Given the description of an element on the screen output the (x, y) to click on. 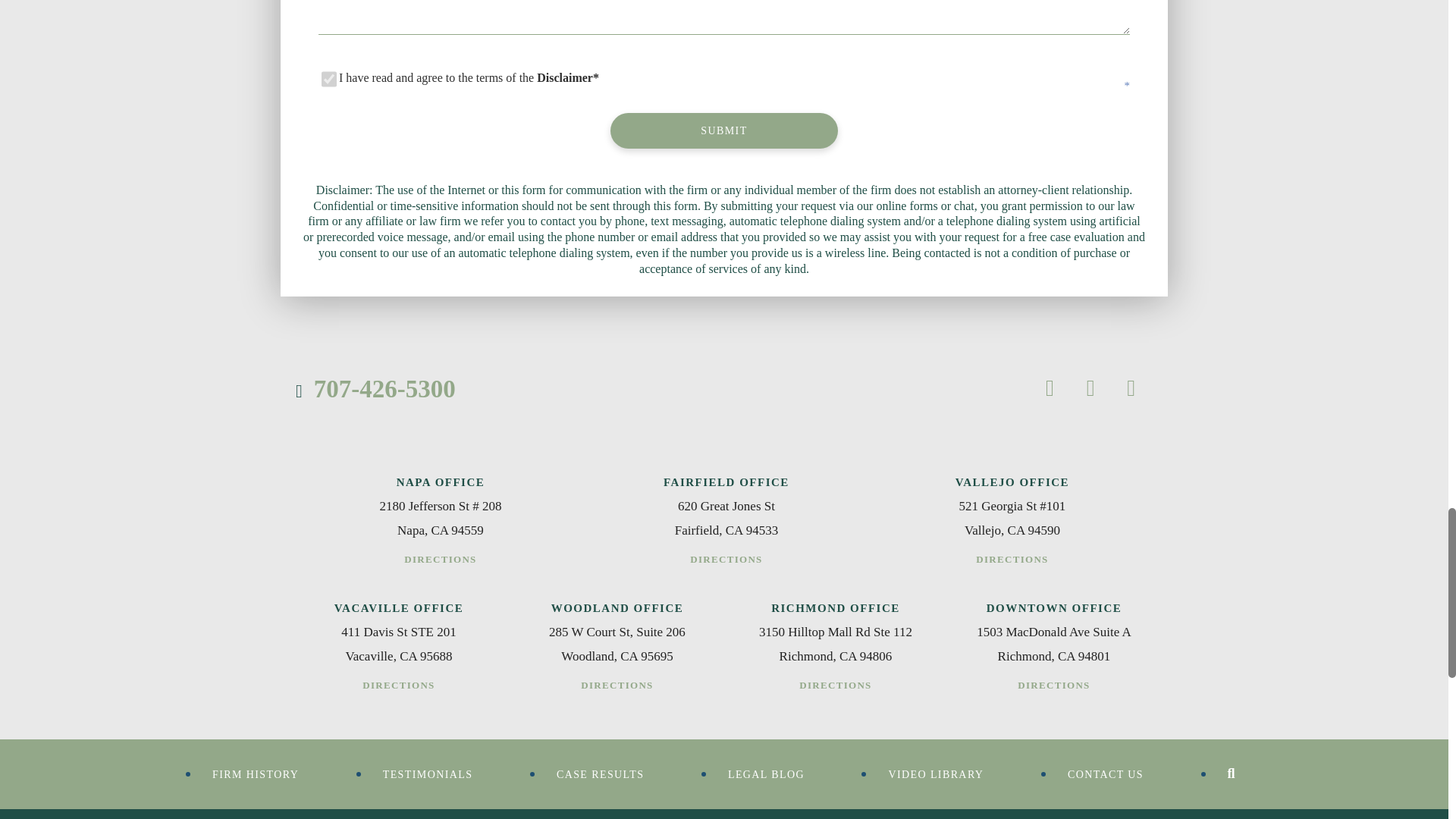
Call Wells Call Injury Lawyers (375, 388)
